Given the description of an element on the screen output the (x, y) to click on. 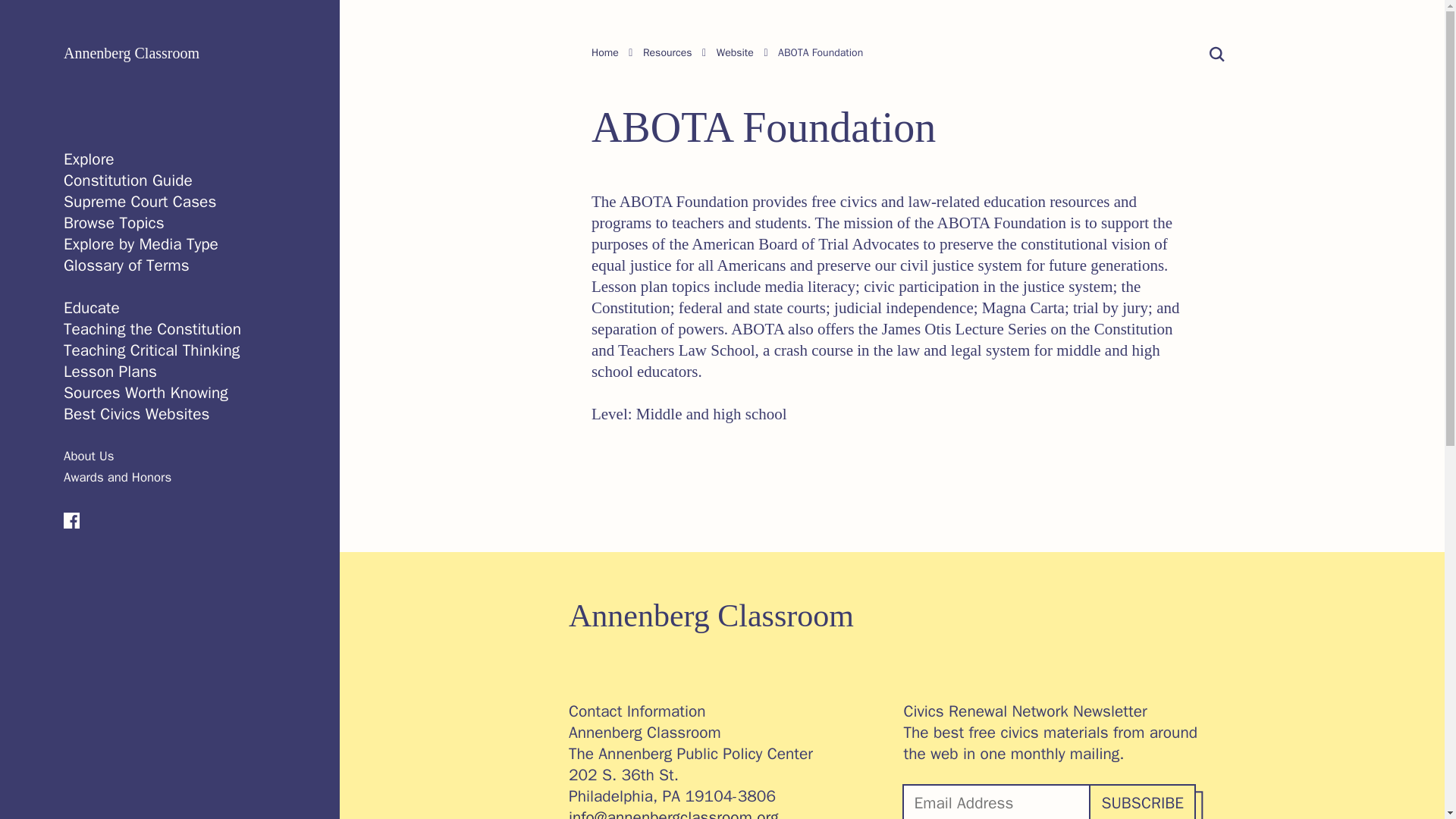
Educate (91, 307)
Lesson Plans (110, 371)
Explore (89, 158)
Subscribe (1141, 802)
Educate (91, 307)
Best Civics Websites (136, 414)
Teaching the Constitution (152, 328)
Teaching Critical Thinking (152, 350)
Constitution Guide (128, 179)
Awards and Honors (117, 477)
Sources Worth Knowing (146, 392)
Teaching the Constitution (152, 328)
Glossary of Terms (126, 265)
About Us (88, 455)
